Given the description of an element on the screen output the (x, y) to click on. 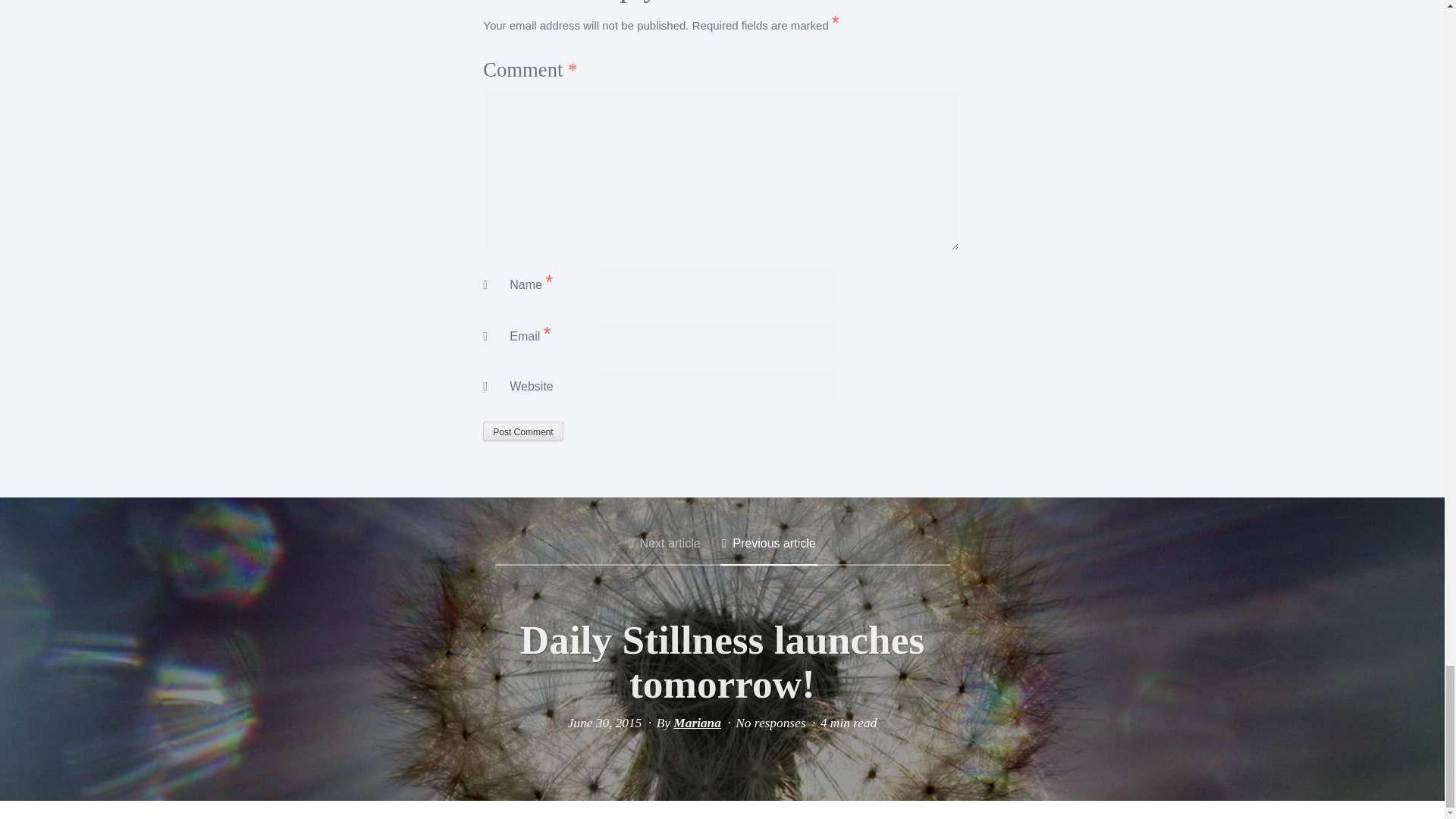
Daily Stillness launches tomorrow! (721, 661)
Post Comment (522, 431)
